Given the description of an element on the screen output the (x, y) to click on. 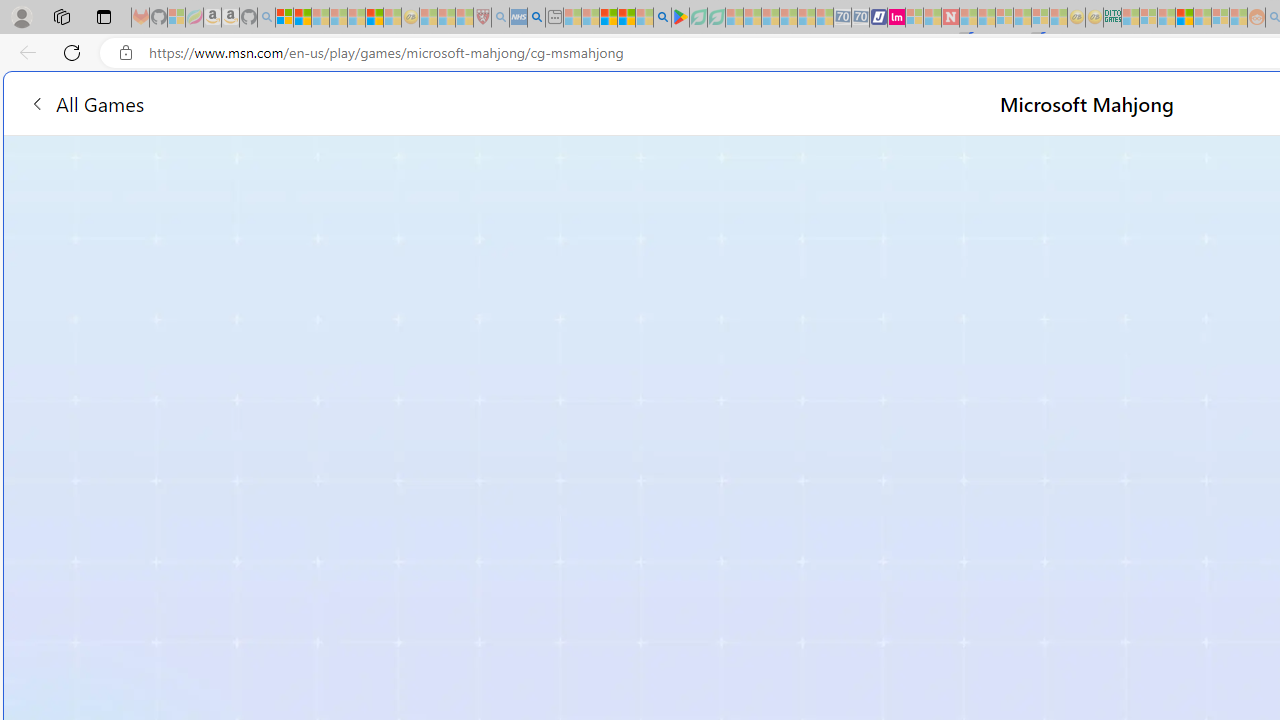
Bluey: Let's Play! - Apps on Google Play (680, 17)
